Given the description of an element on the screen output the (x, y) to click on. 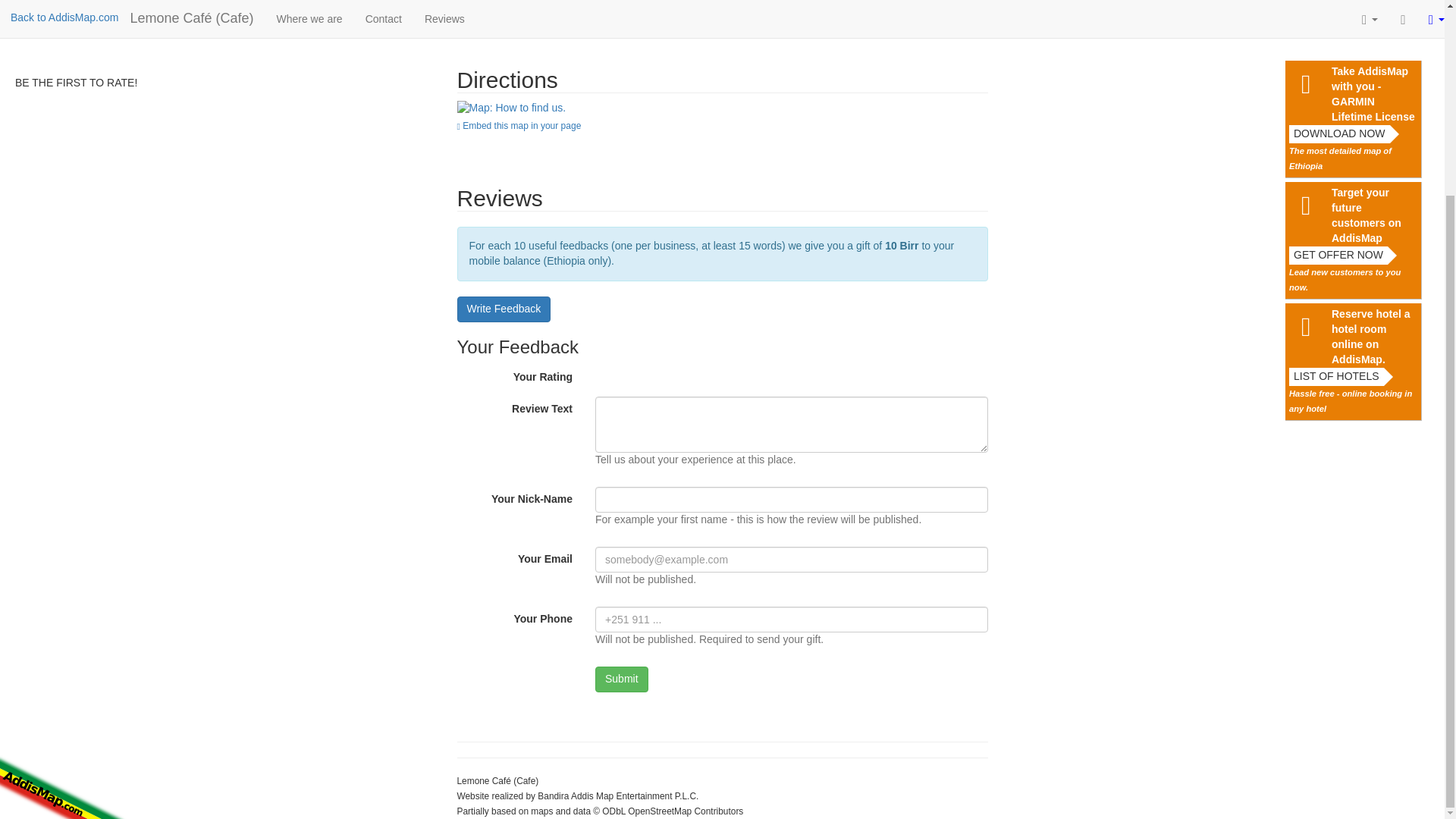
GET OFFER NOW (1337, 9)
LIST OF HOTELS (1336, 130)
Write Feedback (503, 309)
Embed this map in your page (722, 124)
Churchil (511, 108)
Submit (621, 679)
Reserve hotel a hotel room online on AddisMap. (1374, 90)
Submit (621, 679)
